Given the description of an element on the screen output the (x, y) to click on. 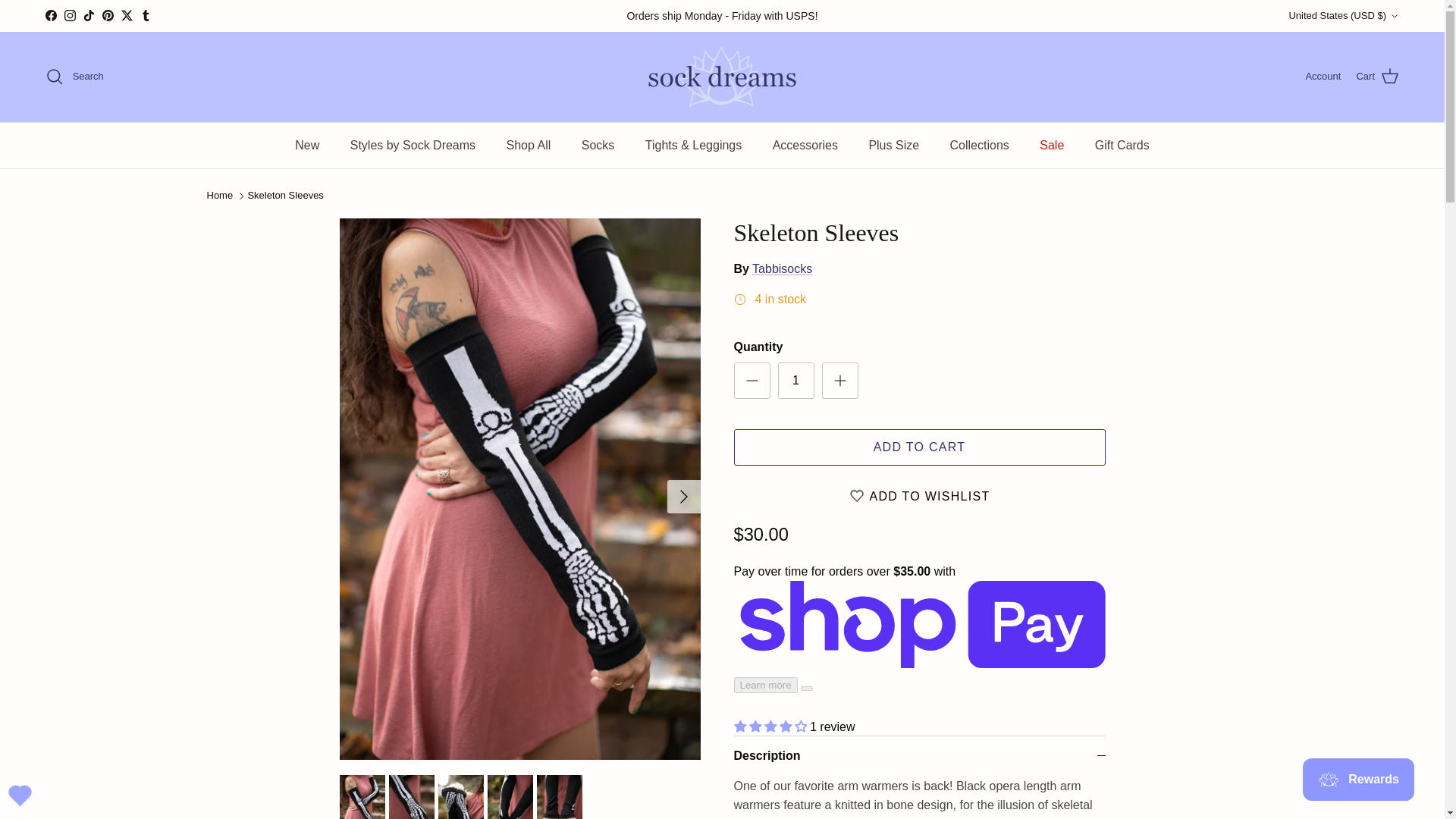
Pinterest (107, 15)
Facebook (50, 15)
New (307, 145)
Sock Dreams on Facebook (50, 15)
Styles by Sock Dreams (412, 145)
Cart (1377, 76)
Search (74, 76)
Sock Dreams on TikTok (88, 15)
Sock Dreams on Instagram (69, 15)
Tumblr (145, 15)
Sock Dreams (721, 76)
Sock Dreams on Pinterest (107, 15)
Account (1322, 76)
Sock Dreams on Tumblr (145, 15)
1 (795, 380)
